Given the description of an element on the screen output the (x, y) to click on. 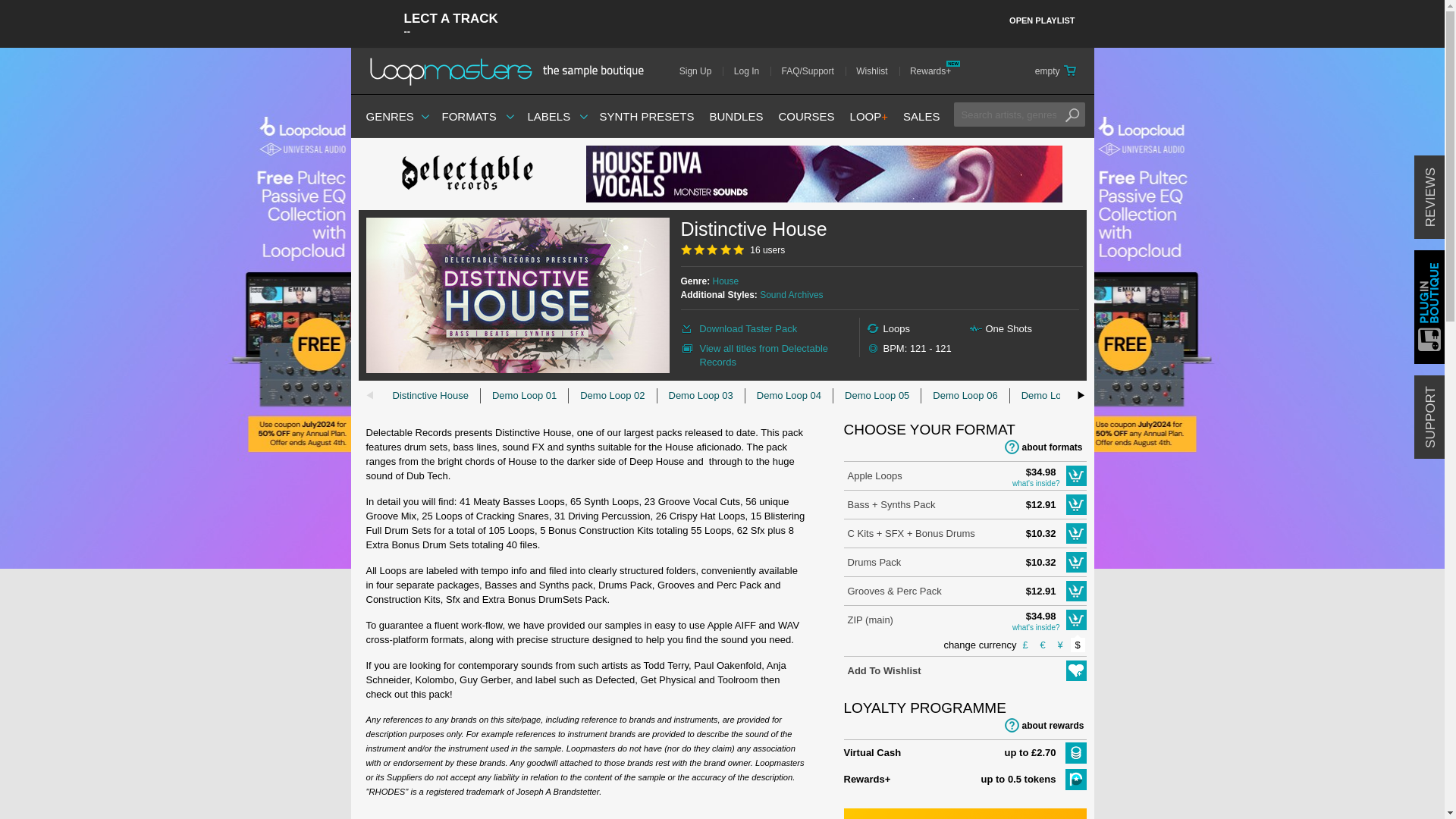
Sign Up (701, 71)
Log In (752, 71)
Wishlist (877, 71)
OPEN PLAYLIST (1041, 20)
Log In (752, 71)
Loopmasters - the sample boutique (511, 71)
Wishlist (877, 71)
GENRES (389, 115)
Sign Up (701, 71)
Show all genres (389, 115)
Support and frequently questioned answers (812, 71)
